Given the description of an element on the screen output the (x, y) to click on. 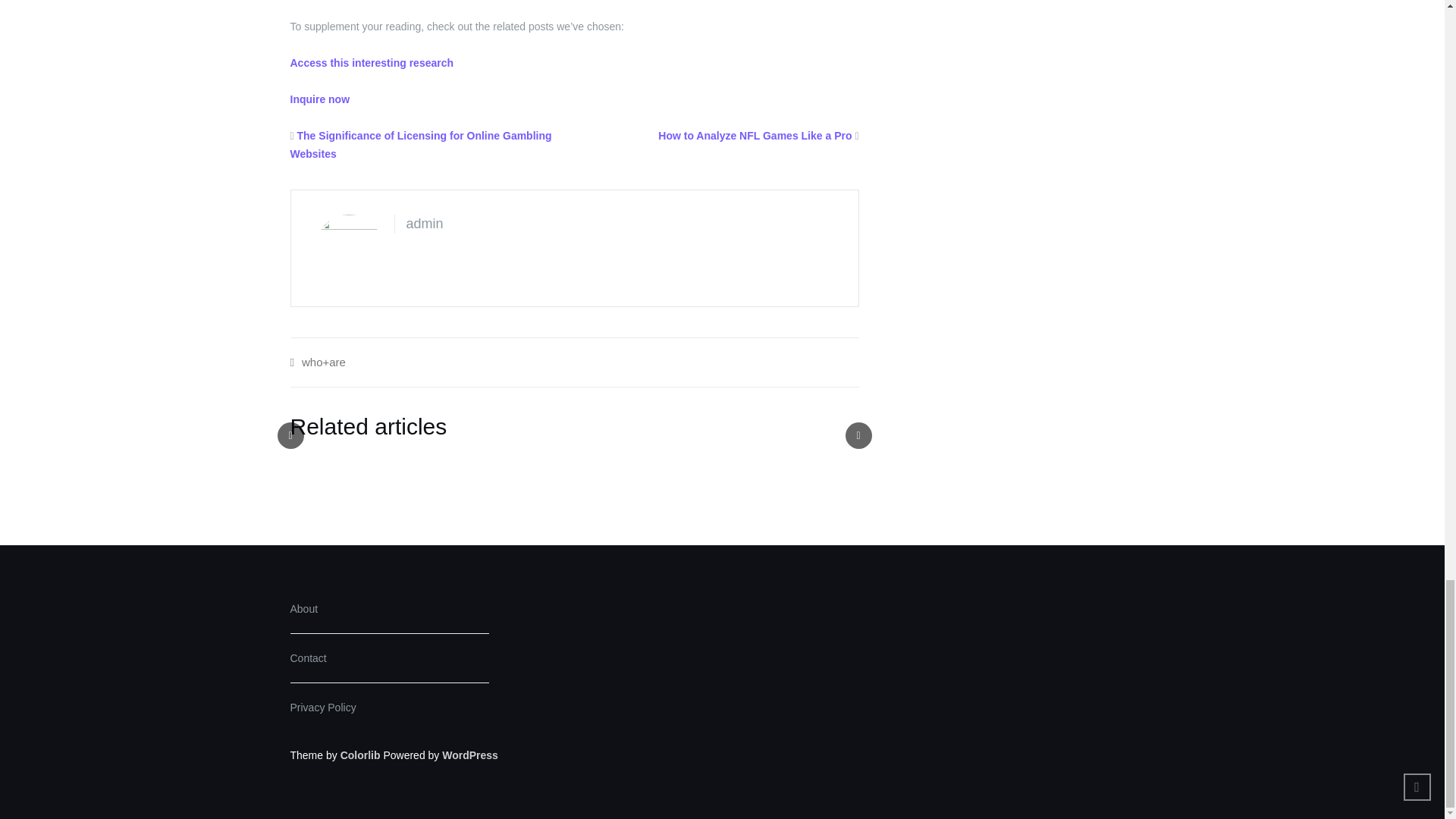
How to Analyze NFL Games Like a Pro (754, 135)
Access this interesting research (370, 62)
WordPress.org (469, 755)
Colorlib (360, 755)
The Significance of Licensing for Online Gambling Websites (420, 144)
Inquire now (319, 99)
